Given the description of an element on the screen output the (x, y) to click on. 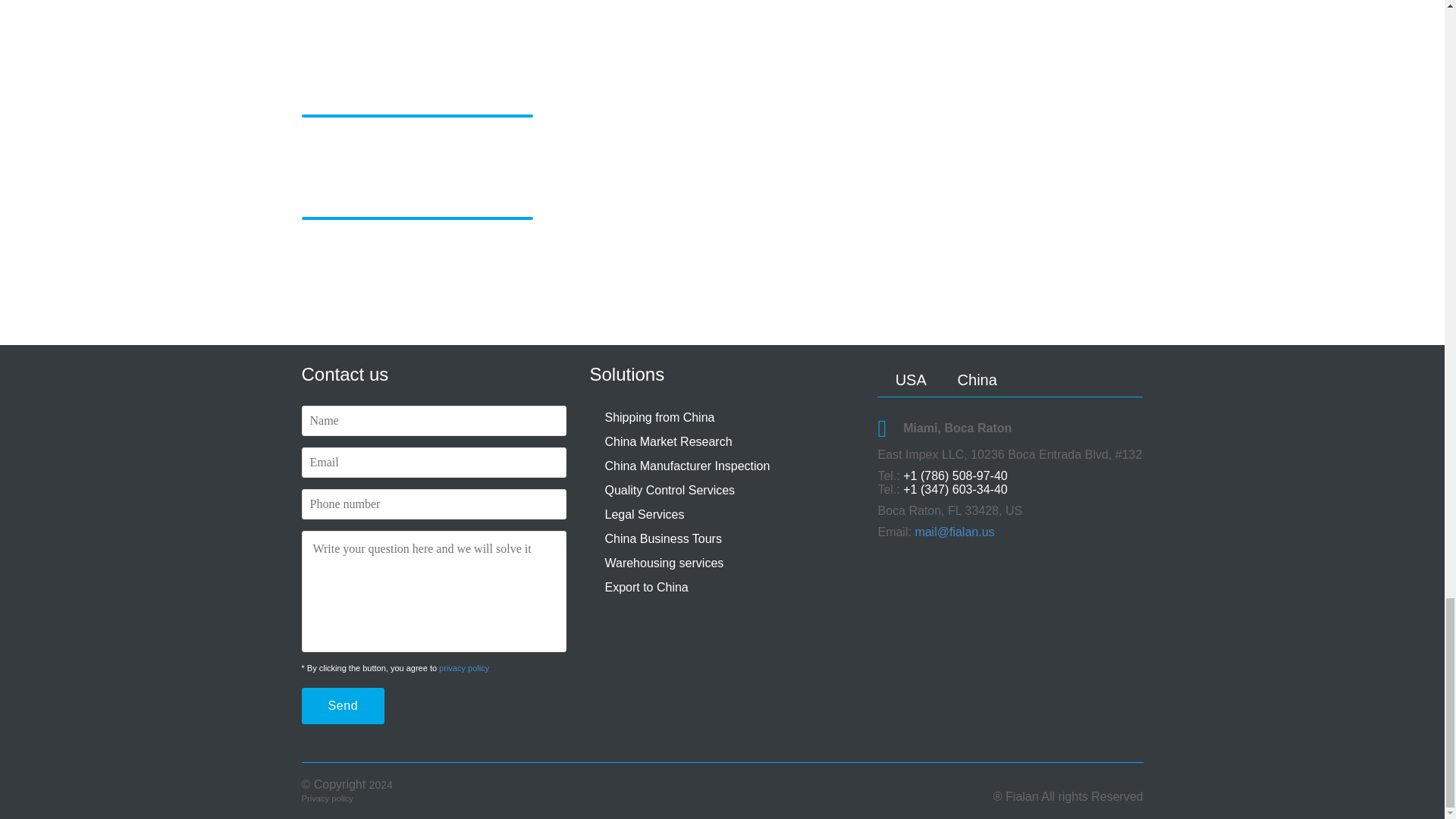
Shipping from China (659, 417)
Warehousing services (663, 562)
China Manufacturer Inspection (687, 465)
Export to China (645, 586)
China Business Tours (662, 538)
Send (343, 705)
Legal Services (644, 513)
China Market Research (668, 440)
Send (343, 705)
privacy policy (464, 667)
